Given the description of an element on the screen output the (x, y) to click on. 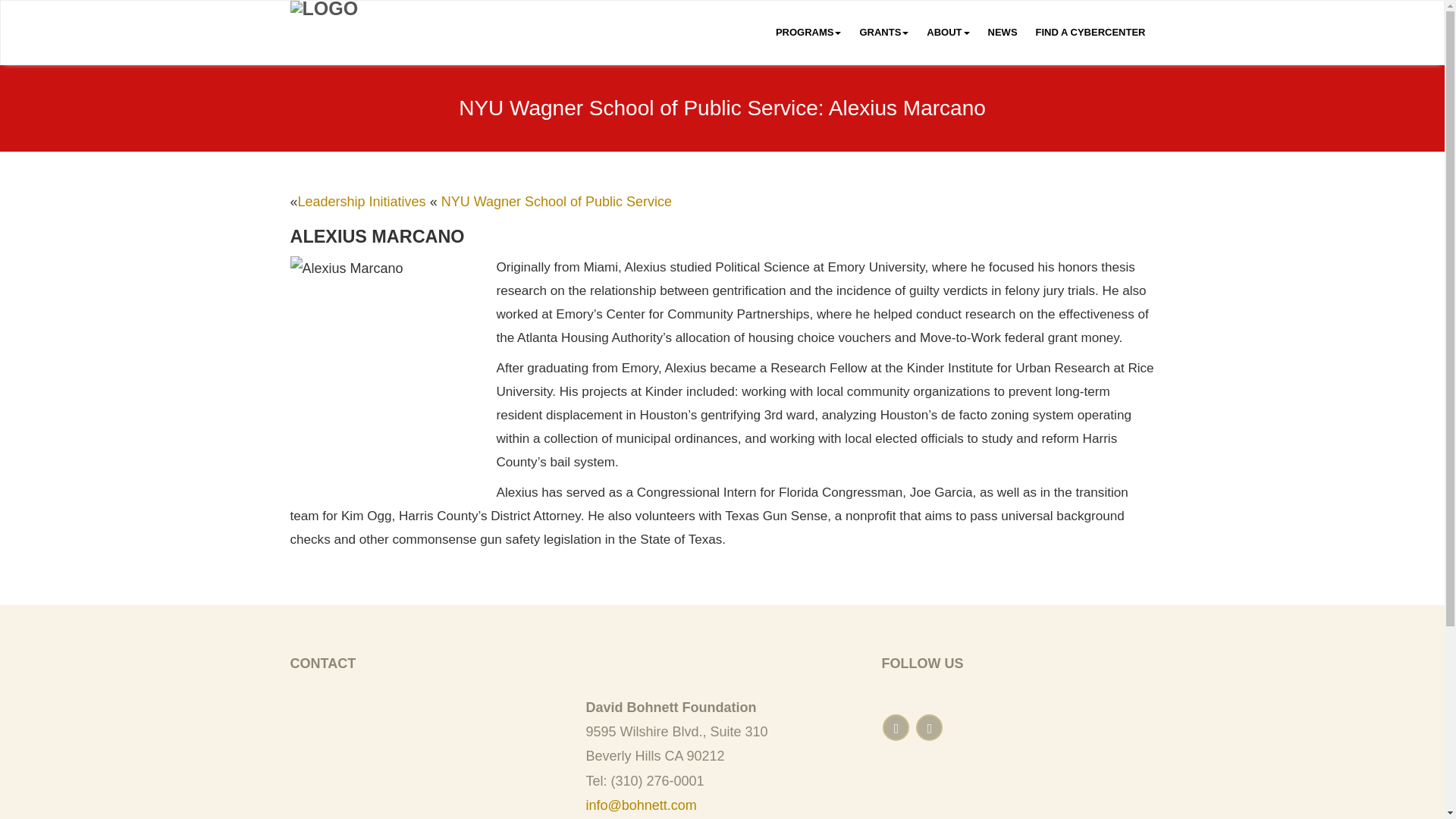
twitter (928, 727)
GRANTS (883, 32)
PROGRAMS (808, 32)
ABOUT (947, 32)
FIND A CYBERCENTER (1090, 32)
NYU Wagner School of Public Service (556, 201)
find-a-cybercenter (1090, 32)
facebook (895, 727)
Leadership Initiatives (362, 201)
